Given the description of an element on the screen output the (x, y) to click on. 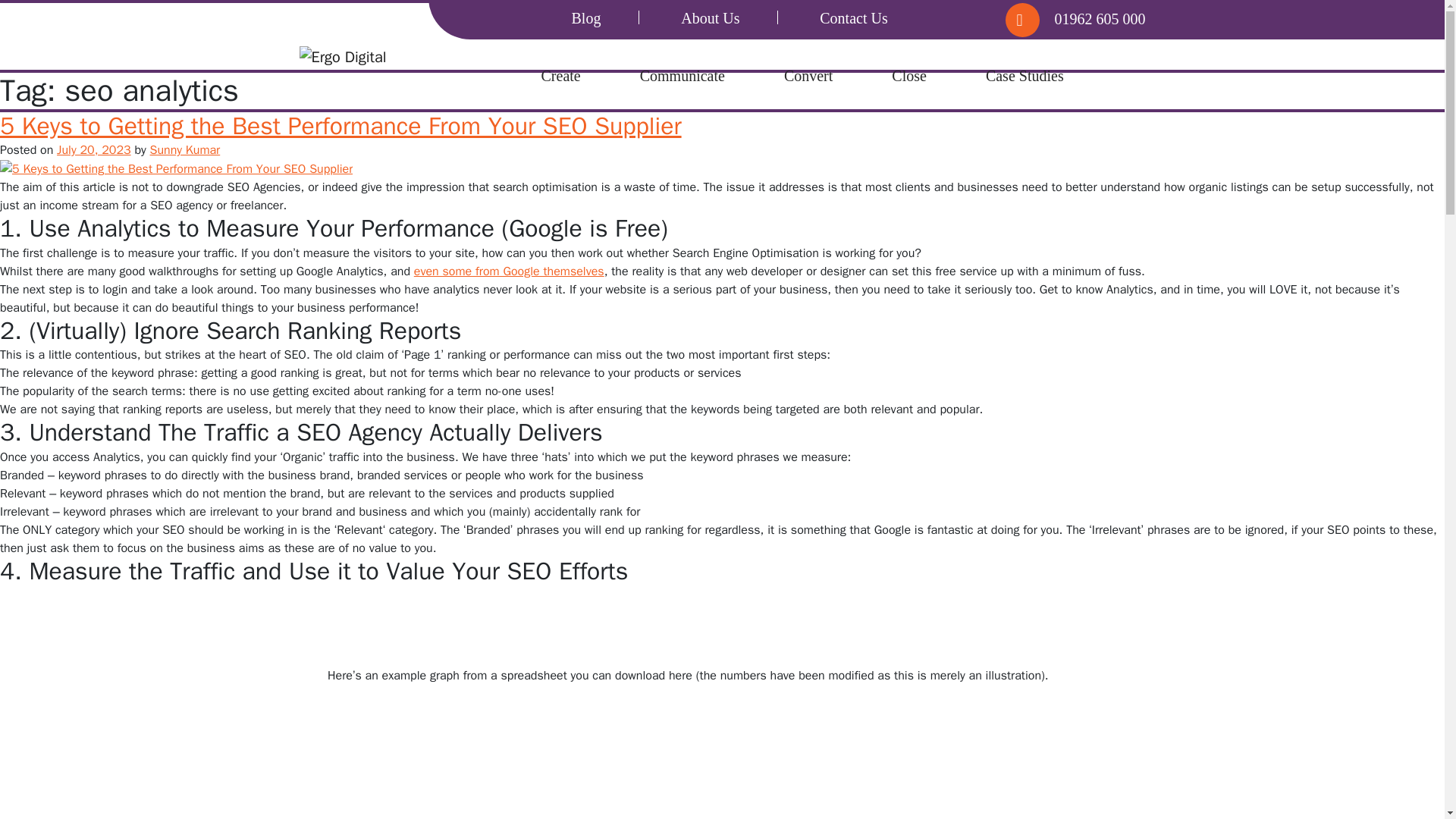
About Us (710, 17)
Contact Us (852, 17)
Sunny Kumar (185, 150)
Convert (808, 76)
July 20, 2023 (93, 150)
01962 605 000 (1091, 18)
Communicate (682, 76)
Blog (586, 17)
Close (908, 76)
Create (560, 76)
Case Studies (1024, 76)
